Given the description of an element on the screen output the (x, y) to click on. 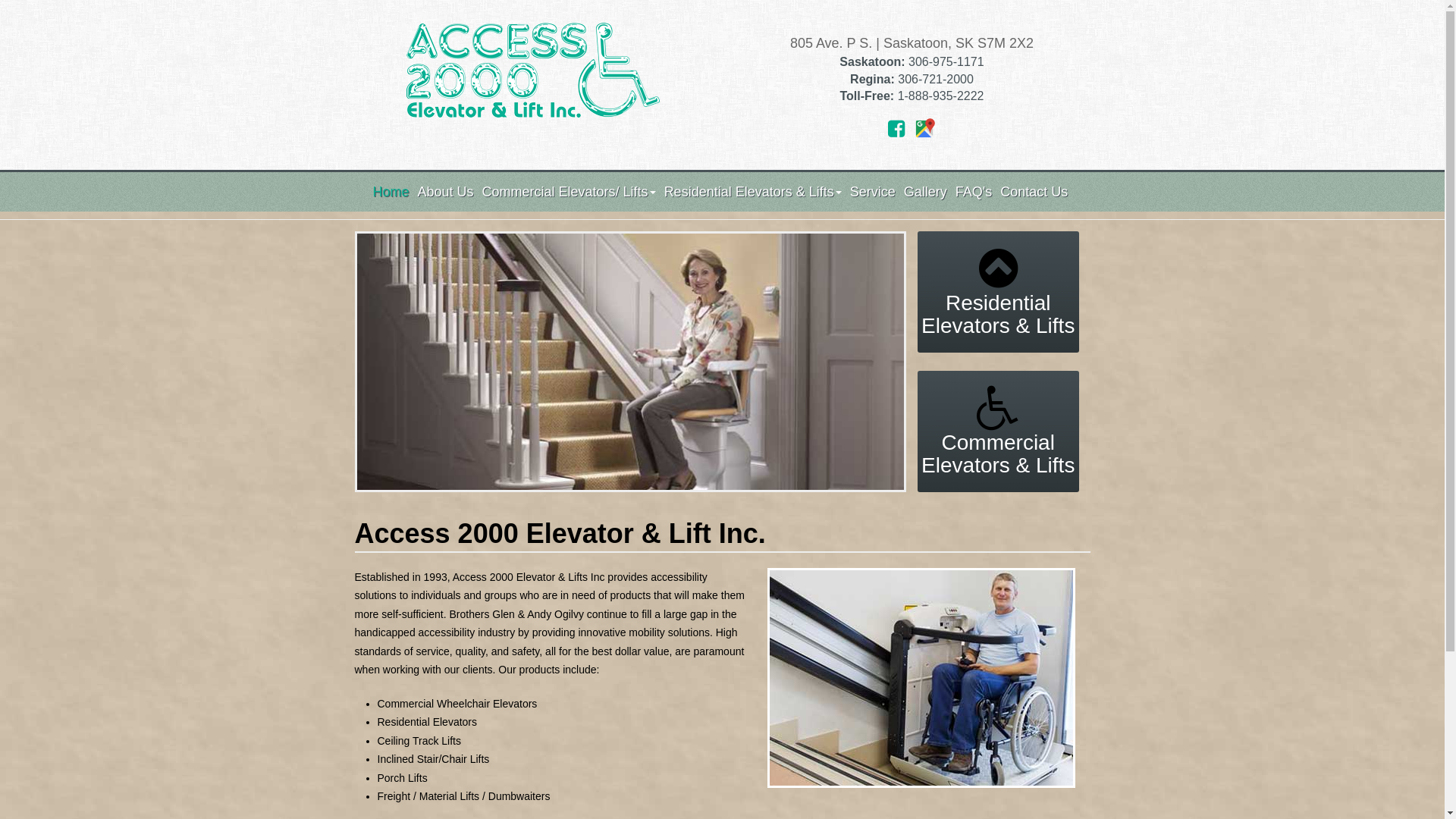
Facebook Element type: hover (896, 128)
Commercial Elevators/ Lifts Element type: text (567, 191)
Residential Elevators & Lifts Element type: text (751, 191)
Home Element type: text (389, 191)
FAQ's Element type: text (971, 191)
Service Element type: text (870, 191)
Gallery Element type: text (923, 191)
Residential Elevators & Lifts Element type: text (998, 291)
About Us Element type: text (443, 191)
Commercial Elevators & Lifts Element type: text (998, 431)
Contact Us Element type: text (1032, 191)
